Given the description of an element on the screen output the (x, y) to click on. 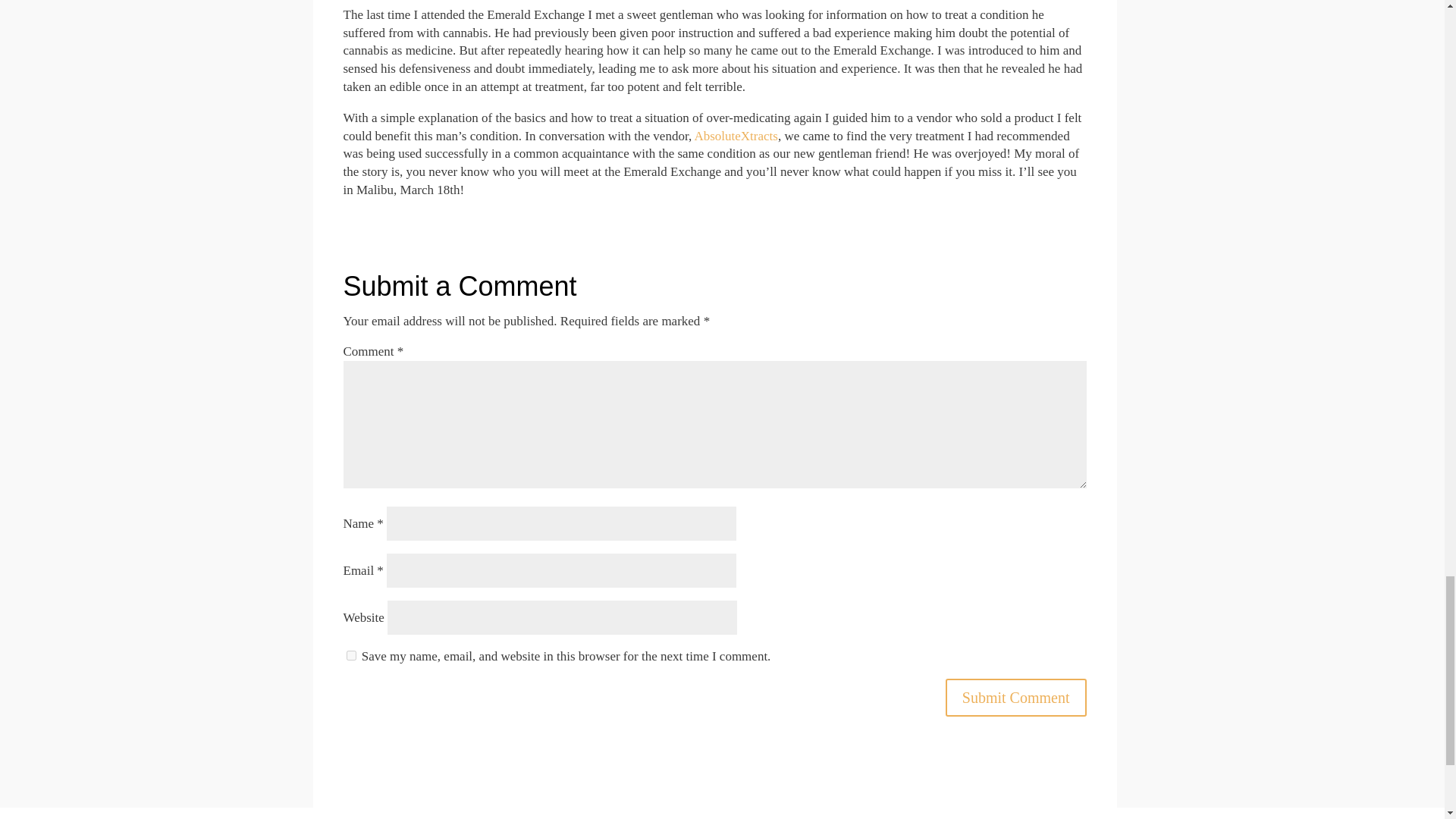
AbsoluteXtracts (735, 135)
yes (350, 655)
Submit Comment (1015, 697)
Submit Comment (1015, 697)
